Given the description of an element on the screen output the (x, y) to click on. 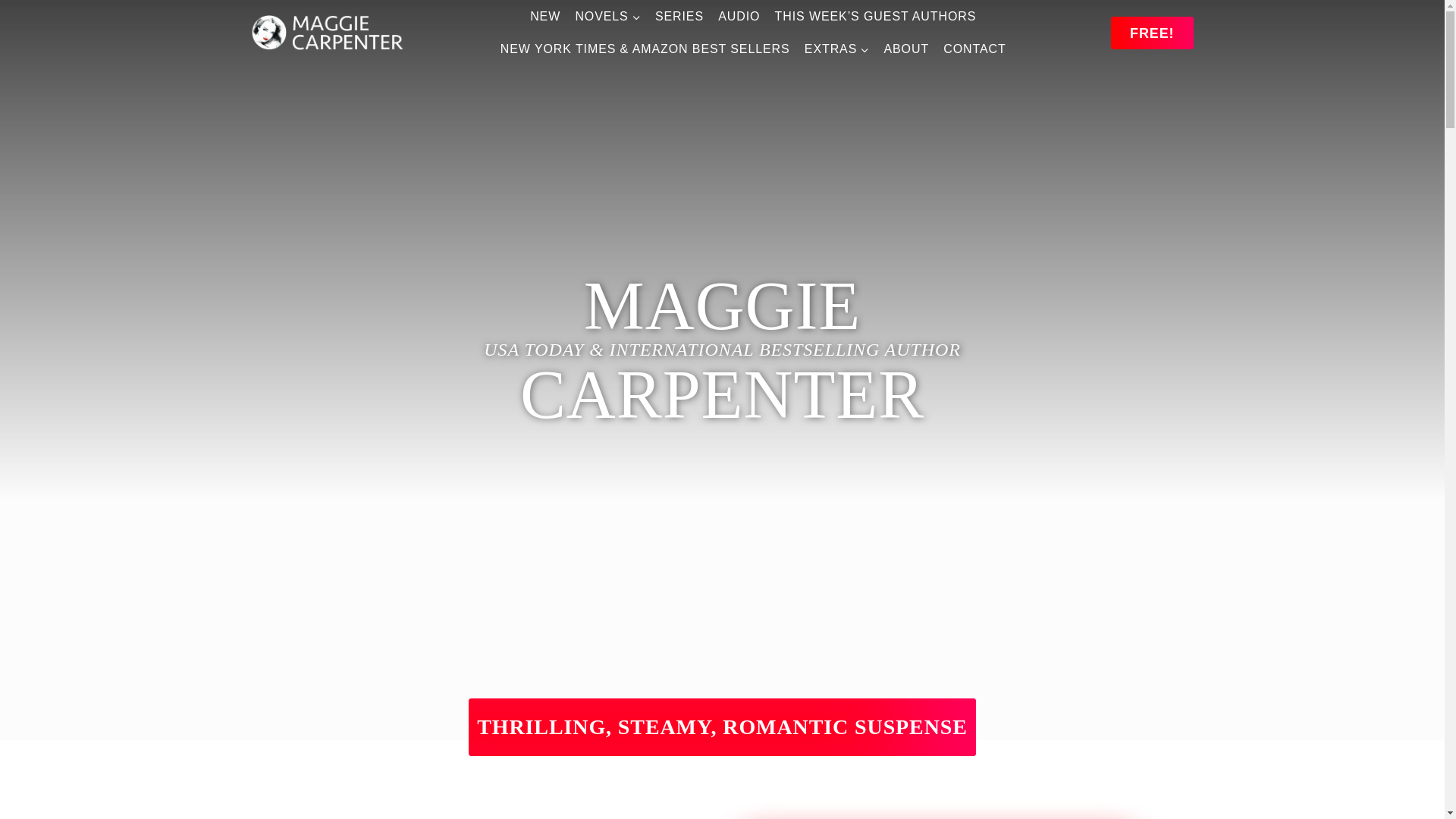
FREE! (1151, 32)
EXTRAS (836, 48)
SERIES (678, 16)
NOVELS (607, 16)
CONTACT (974, 48)
AUDIO (739, 16)
NEW (544, 16)
ABOUT (906, 48)
